Given the description of an element on the screen output the (x, y) to click on. 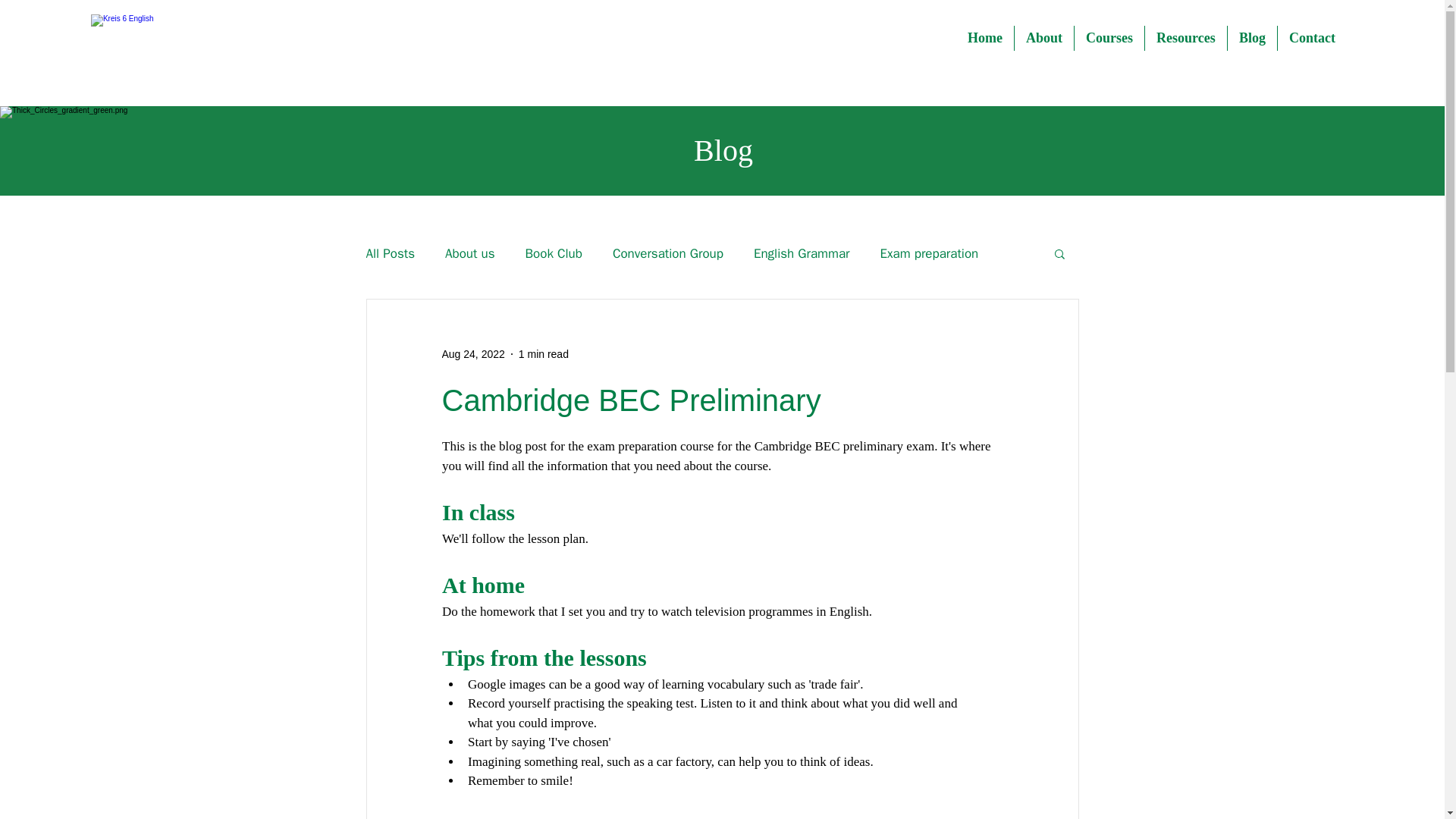
Exam preparation (929, 252)
Home (984, 37)
All Posts (389, 252)
Courses (1109, 37)
Aug 24, 2022 (472, 353)
Contact (1312, 37)
Conversation Group (667, 252)
About (1044, 37)
Blog (1251, 37)
Book Club (553, 252)
